Given the description of an element on the screen output the (x, y) to click on. 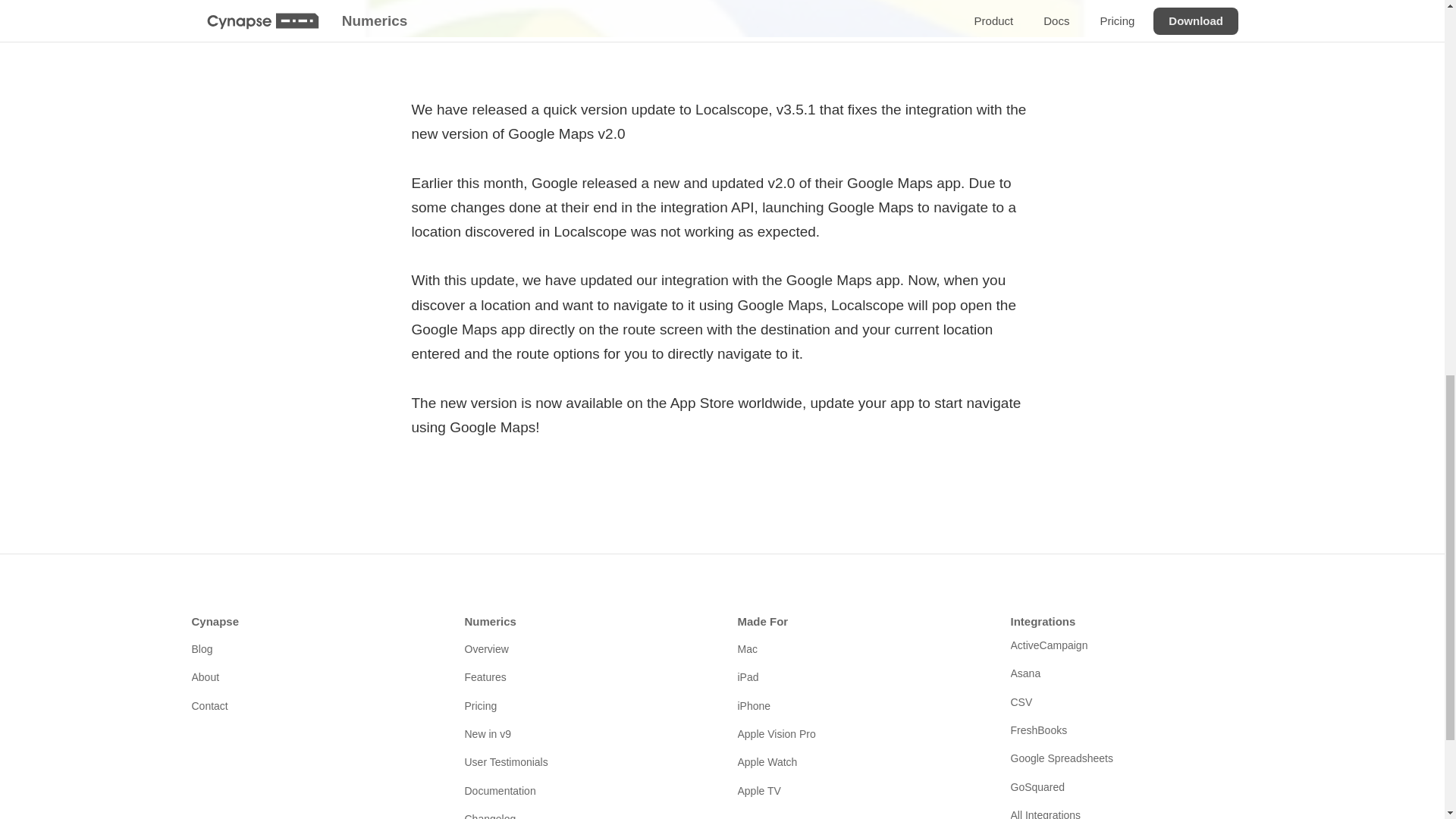
Apple Vision Pro (857, 733)
Documentation (585, 790)
About (311, 677)
Blog (311, 648)
New in v9 (585, 733)
Mac (857, 648)
All Integrations (1131, 811)
iPad (857, 677)
Apple TV (857, 790)
FreshBooks (1131, 730)
